Given the description of an element on the screen output the (x, y) to click on. 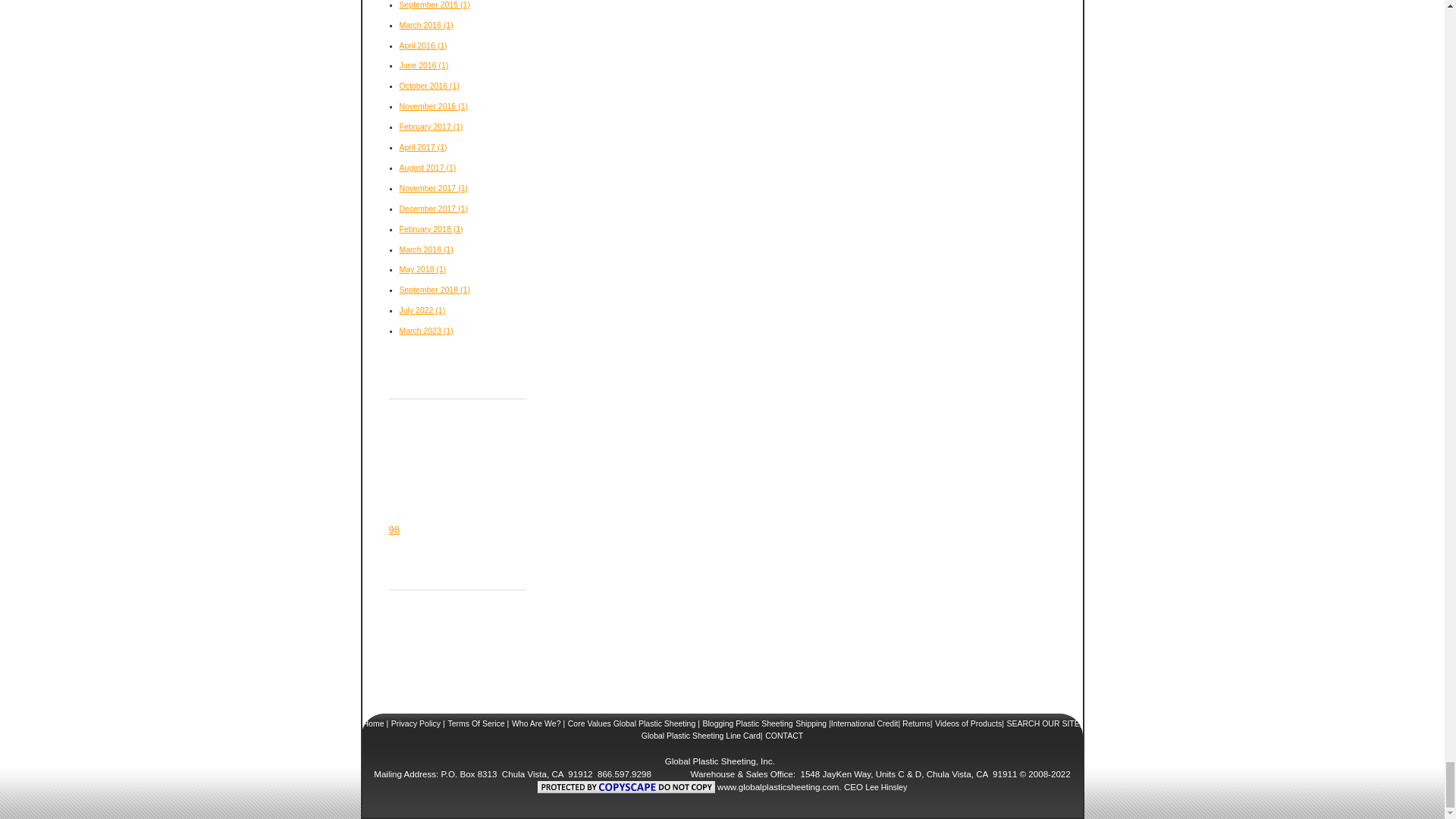
fb:send Facebook Social Plugin (408, 488)
Twitter Tweet Button (429, 414)
fb:like Facebook Social Plugin (417, 444)
View more services (393, 529)
